Given the description of an element on the screen output the (x, y) to click on. 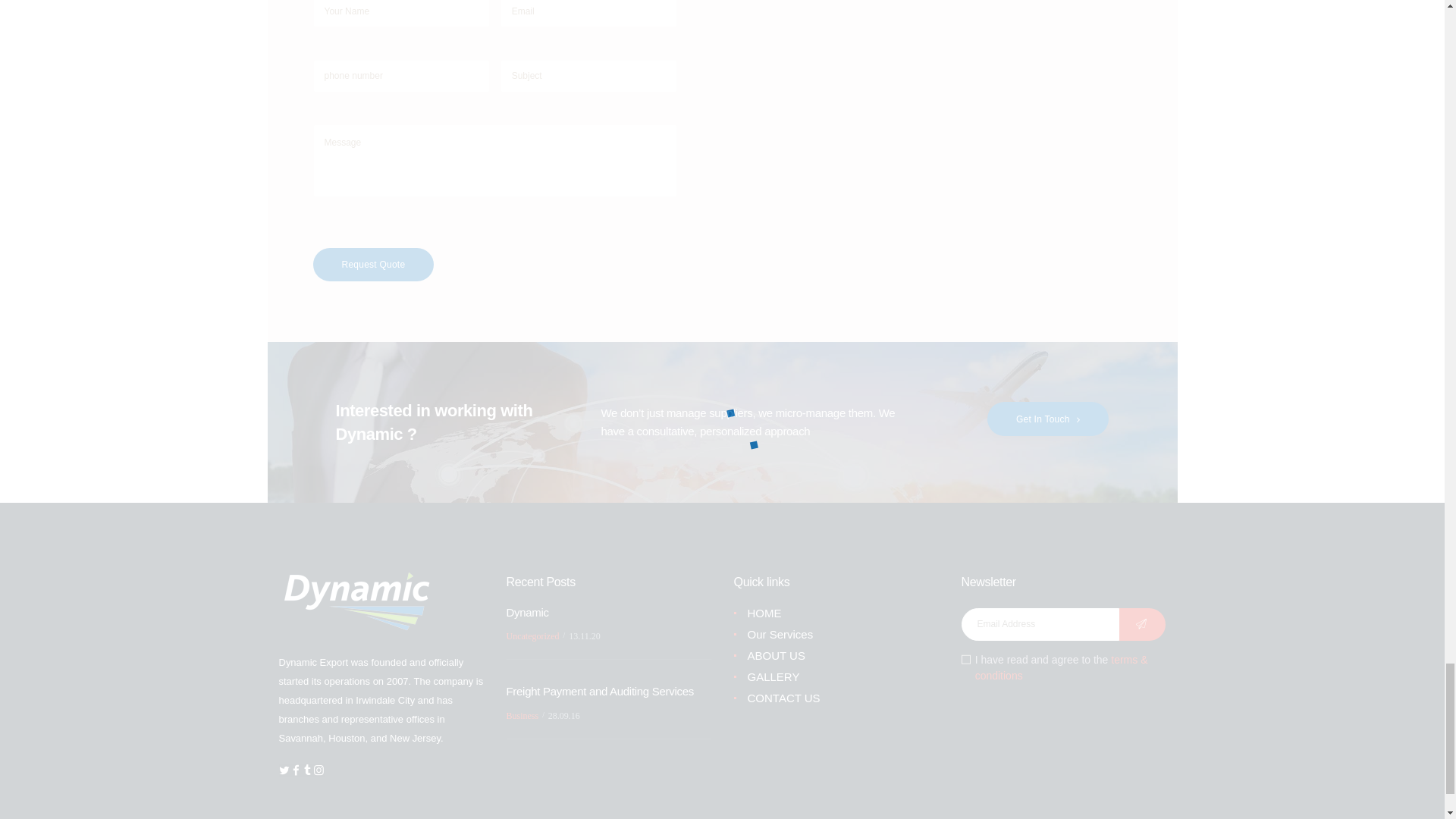
Request Quote (373, 264)
View all posts in Uncategorized (532, 635)
View all posts in Business (522, 715)
